Given the description of an element on the screen output the (x, y) to click on. 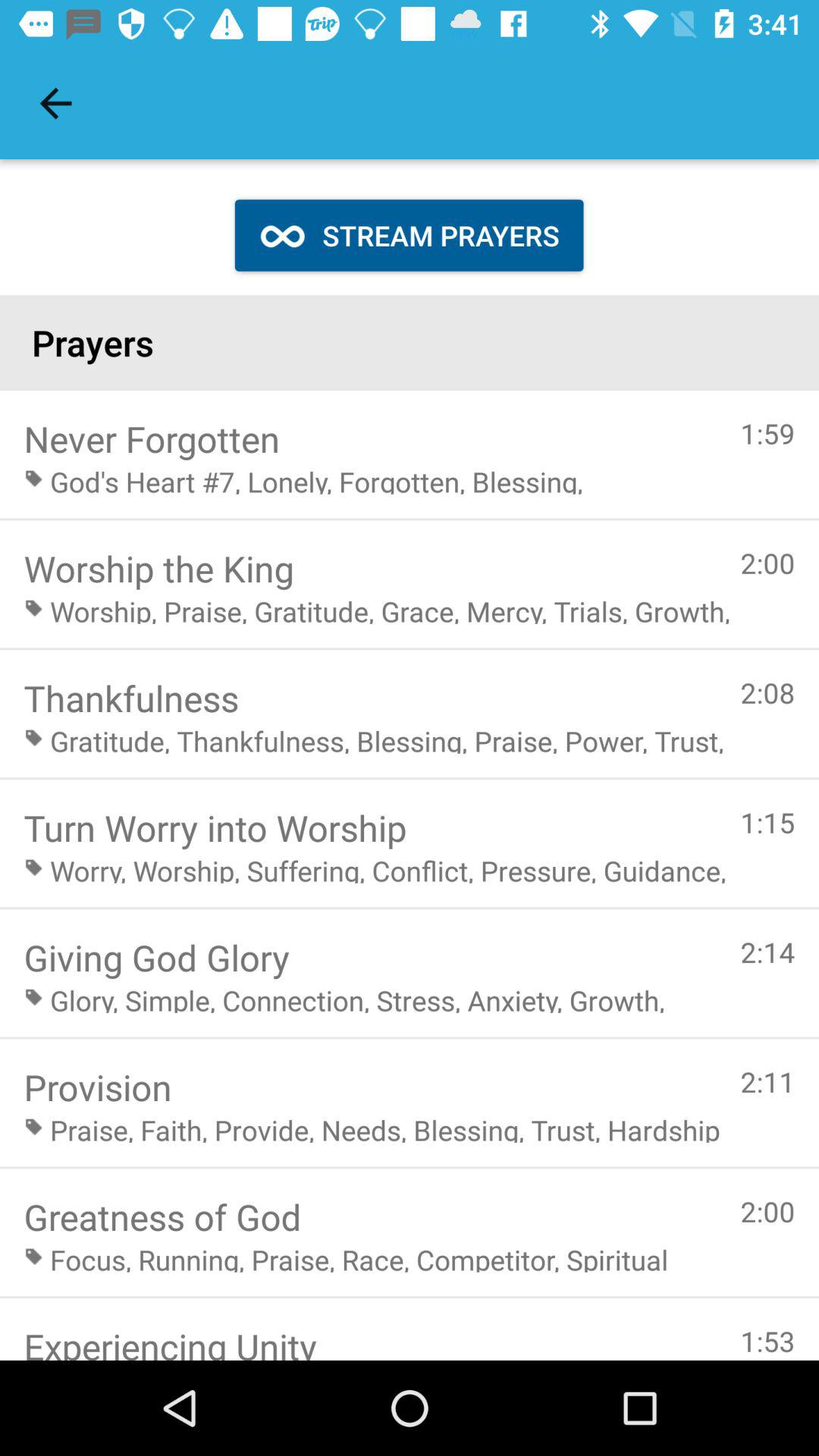
turn on item above the prayers (408, 235)
